Given the description of an element on the screen output the (x, y) to click on. 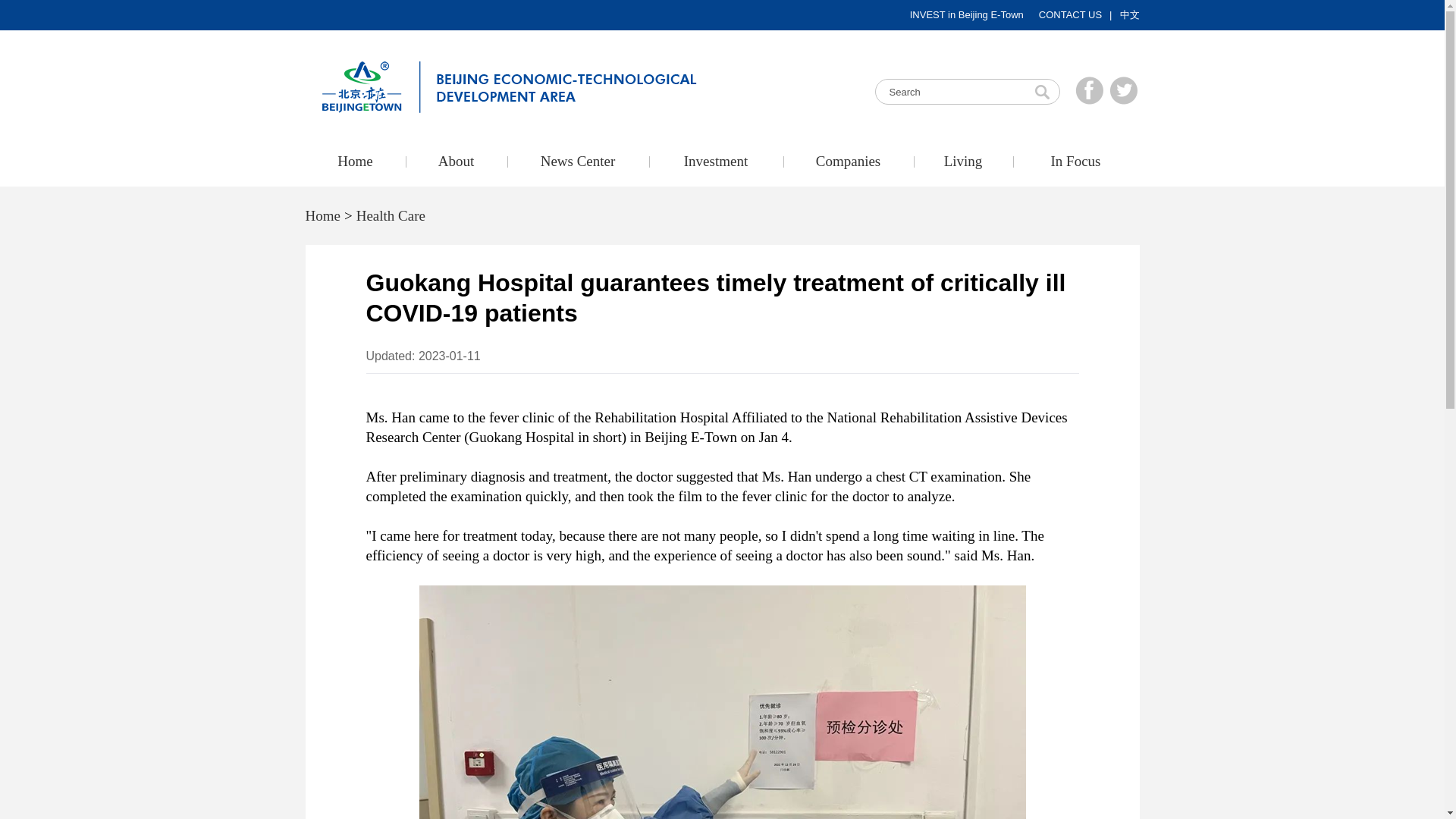
About (455, 161)
News Center (576, 161)
Living (961, 161)
Home (354, 161)
Search (967, 91)
Companies (847, 161)
CONTACT US (1070, 15)
INVEST in Beijing E-Town (966, 15)
Search (1042, 91)
Investment (716, 161)
